Given the description of an element on the screen output the (x, y) to click on. 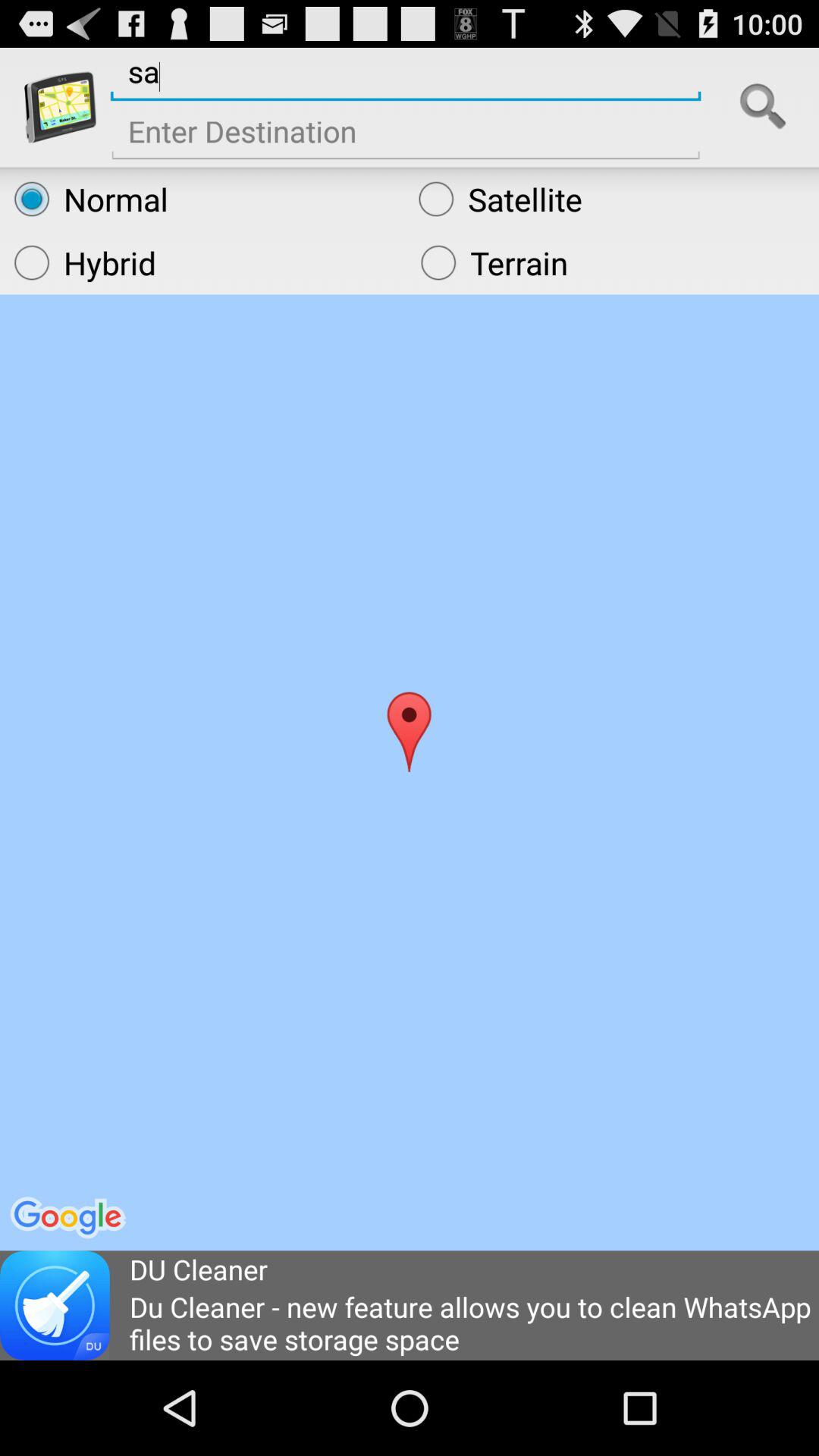
click to search (763, 107)
